Given the description of an element on the screen output the (x, y) to click on. 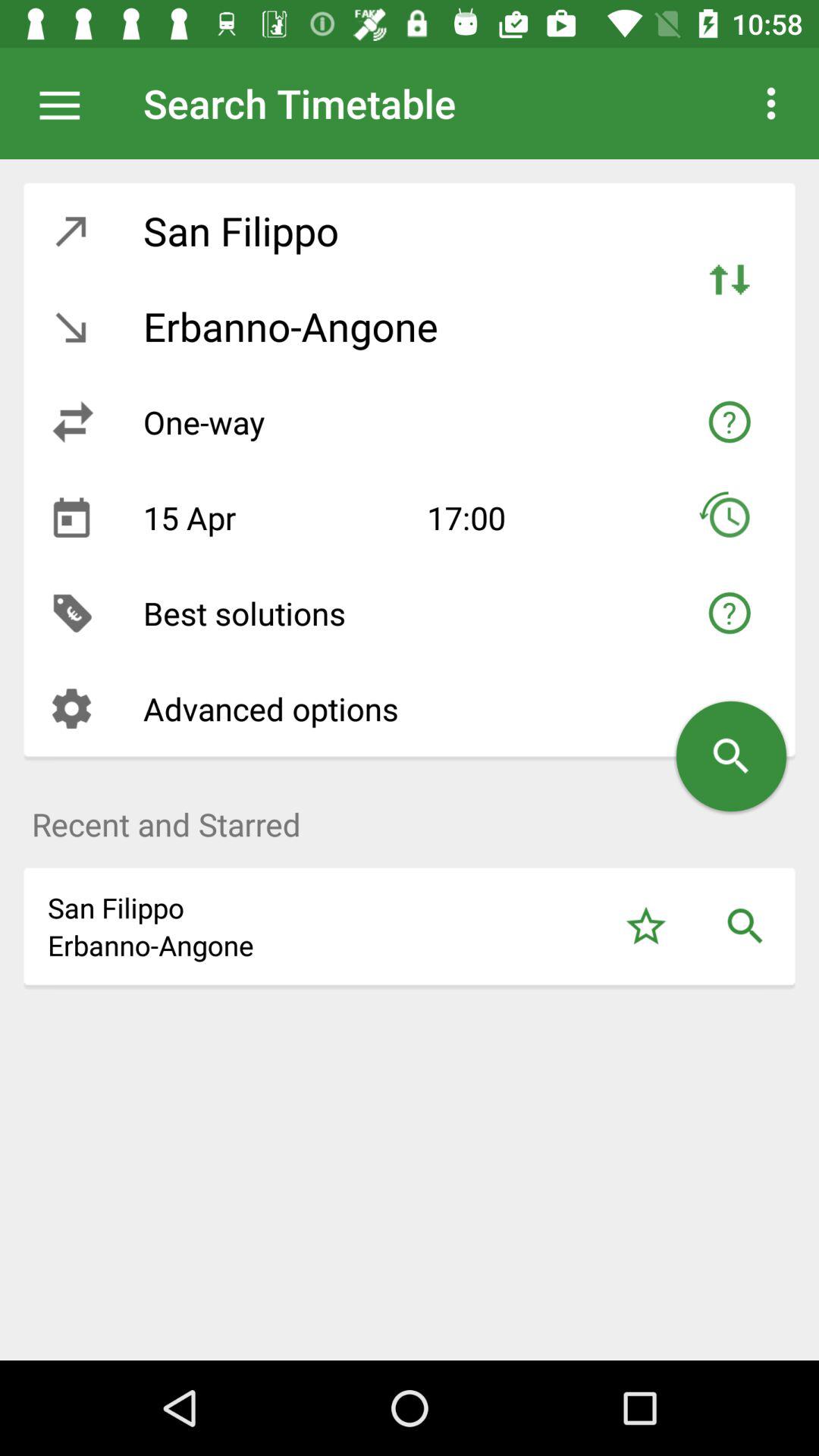
add to favorites (645, 926)
